Given the description of an element on the screen output the (x, y) to click on. 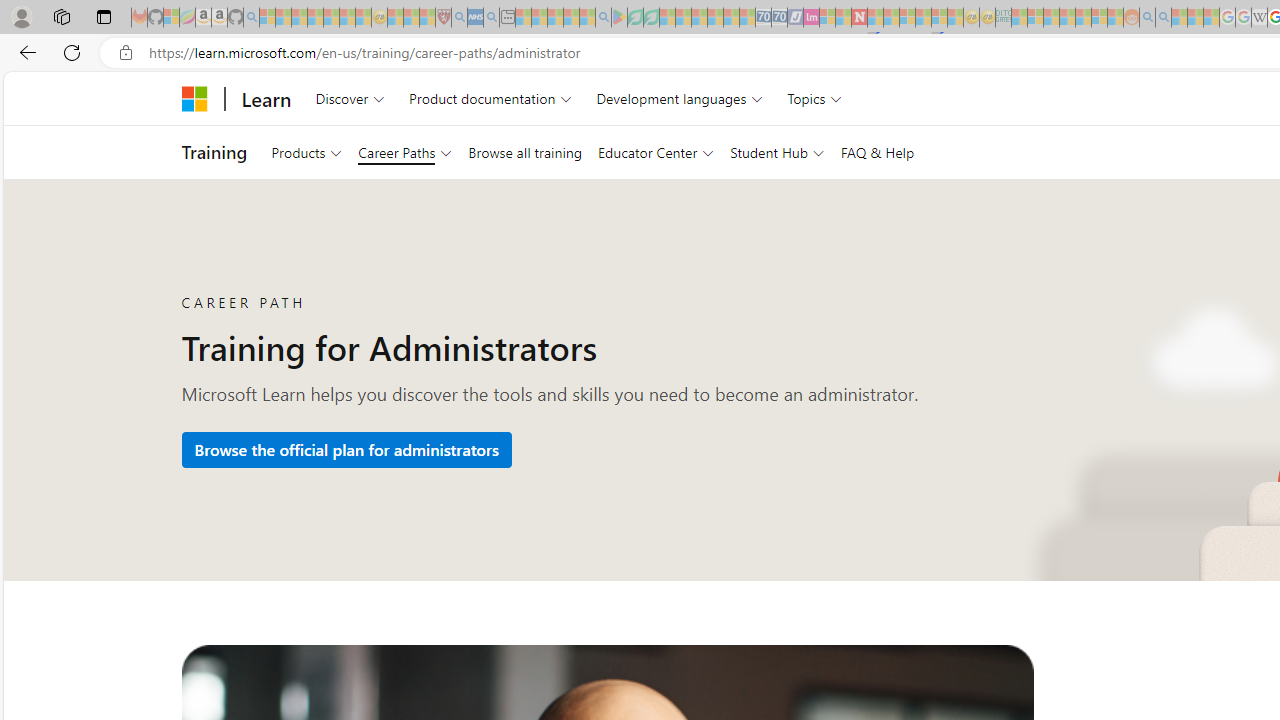
Development languages (679, 98)
Local - MSN - Sleeping (427, 17)
Training (214, 152)
Products (306, 152)
google - Search - Sleeping (603, 17)
Bluey: Let's Play! - Apps on Google Play - Sleeping (619, 17)
Robert H. Shmerling, MD - Harvard Health - Sleeping (443, 17)
FAQ & Help (877, 152)
Utah sues federal government - Search - Sleeping (1163, 17)
